Given the description of an element on the screen output the (x, y) to click on. 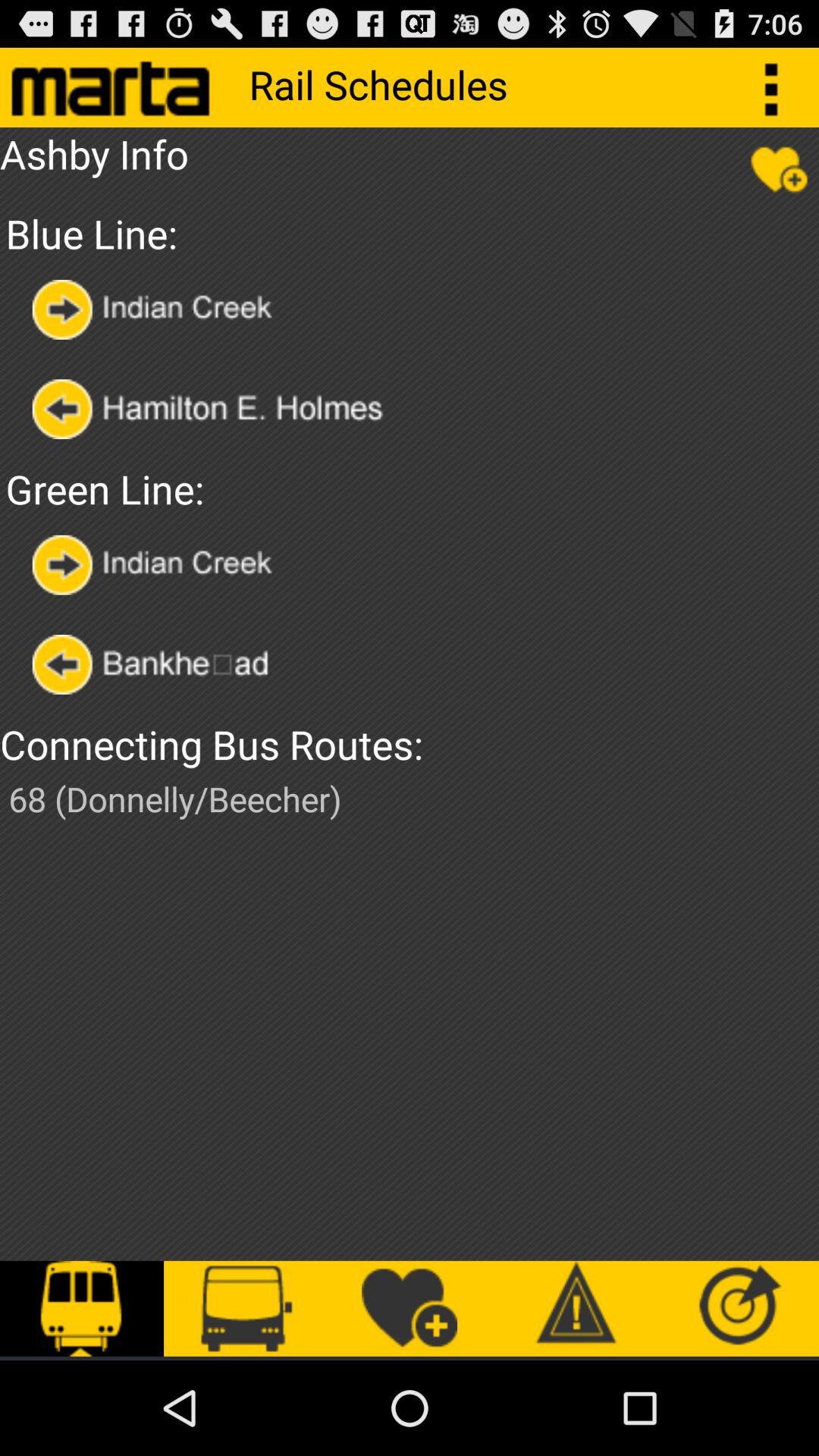
choose by station (156, 309)
